Given the description of an element on the screen output the (x, y) to click on. 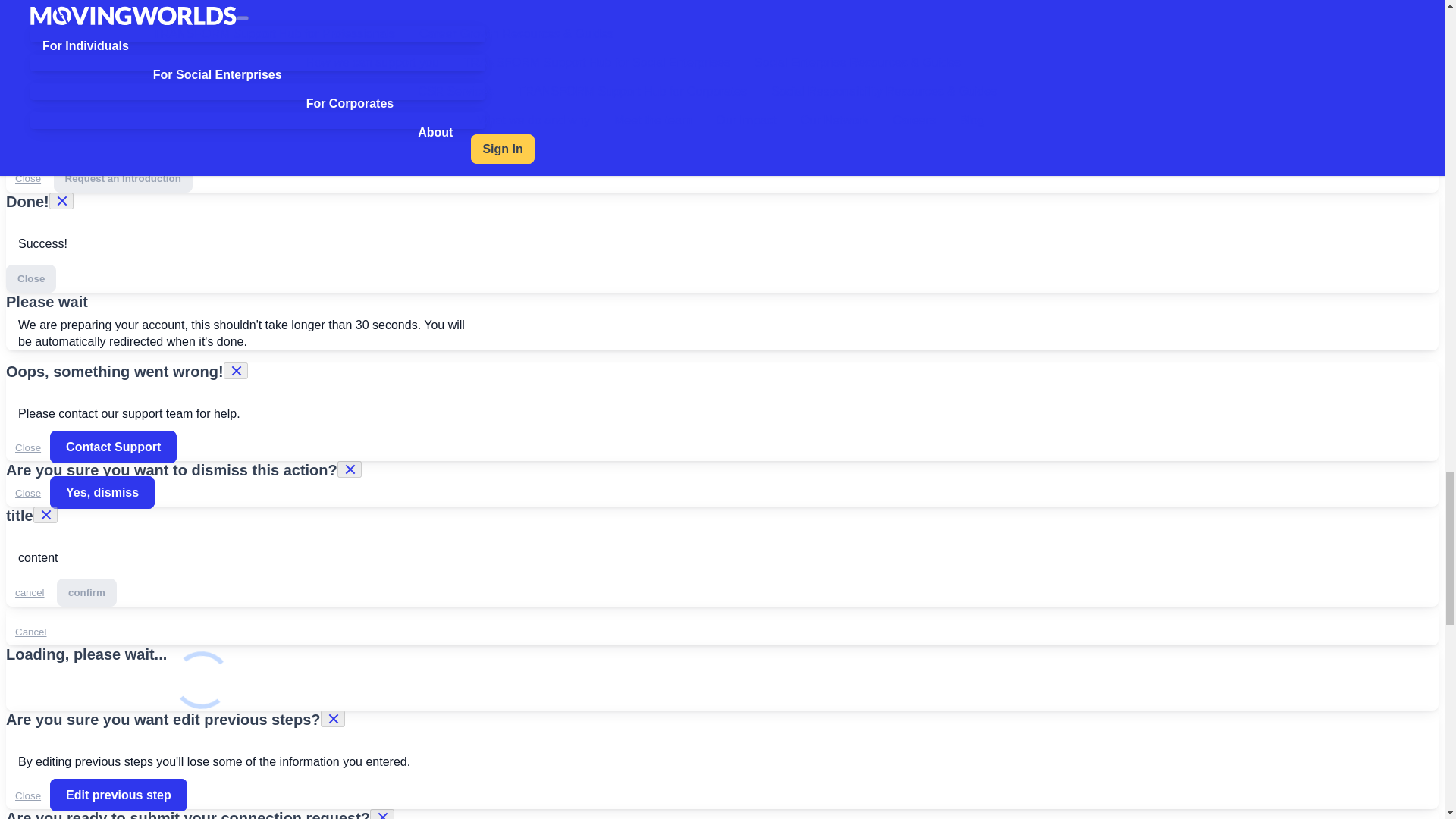
Close (27, 492)
read about our matching process (365, 143)
Request an Introduction (122, 178)
Contact Support (112, 446)
Close (27, 447)
Close (27, 178)
Close (30, 278)
